Given the description of an element on the screen output the (x, y) to click on. 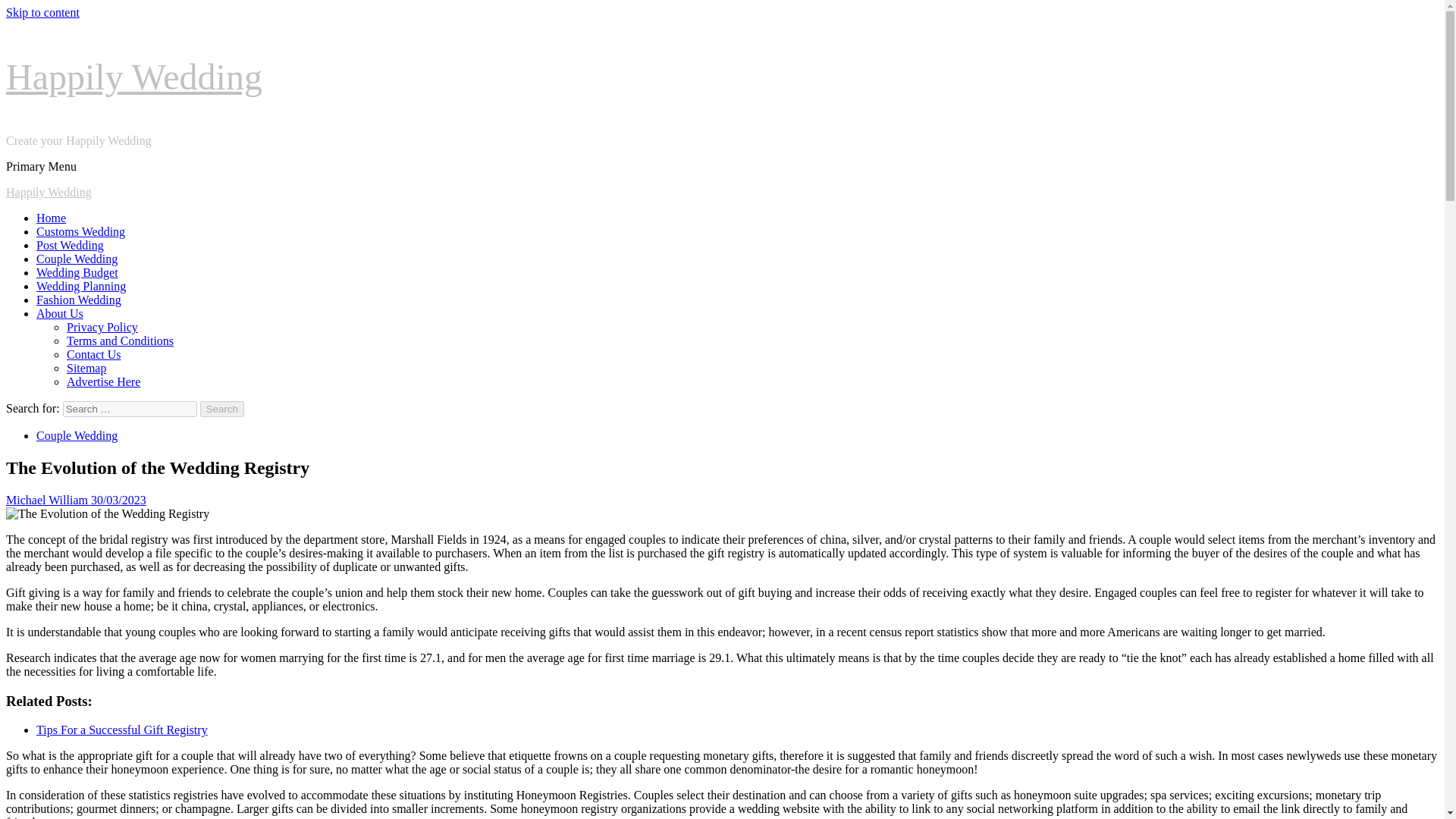
Contact Us (93, 354)
Tips For a Successful Gift Registry (122, 729)
Search (222, 408)
Home (50, 217)
About Us (59, 313)
Privacy Policy (102, 327)
Terms and Conditions (119, 340)
Fashion Wedding (78, 299)
Customs Wedding (80, 231)
Skip to content (42, 11)
Happily Wedding (48, 192)
Couple Wedding (76, 258)
Search (222, 408)
Search (222, 408)
Couple Wedding (76, 435)
